Given the description of an element on the screen output the (x, y) to click on. 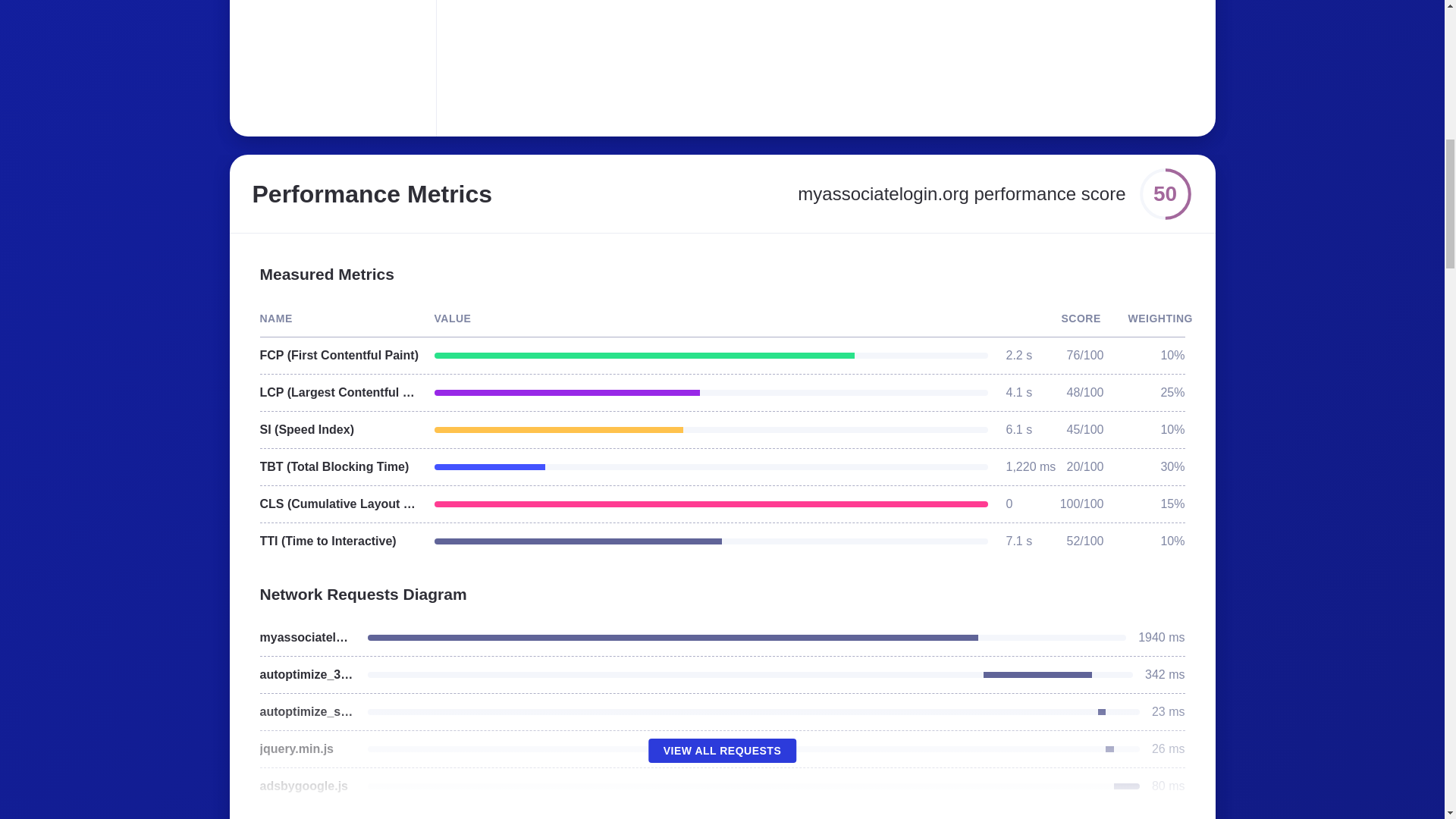
VIEW ALL REQUESTS (721, 750)
